Given the description of an element on the screen output the (x, y) to click on. 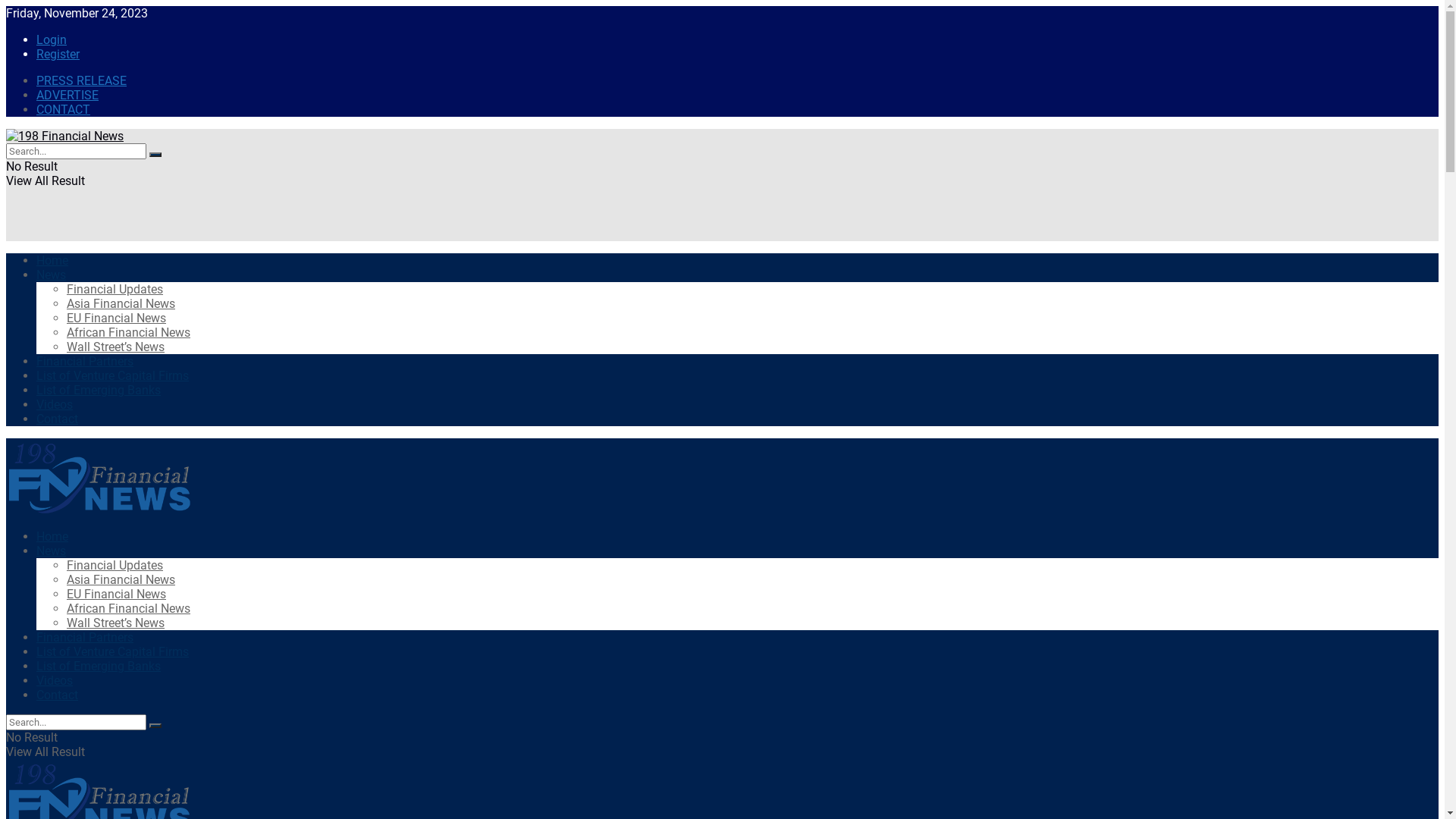
List of Venture Capital Firms Element type: text (112, 375)
Asia Financial News Element type: text (120, 303)
Register Element type: text (57, 54)
News Element type: text (50, 550)
ADVERTISE Element type: text (67, 94)
Home Element type: text (52, 536)
CONTACT Element type: text (63, 109)
Videos Element type: text (54, 680)
News Element type: text (50, 274)
Home Element type: text (52, 260)
EU Financial News Element type: text (116, 317)
African Financial News Element type: text (128, 332)
Contact Element type: text (57, 694)
List of Emerging Banks Element type: text (98, 389)
List of Venture Capital Firms Element type: text (112, 651)
EU Financial News Element type: text (116, 593)
Videos Element type: text (54, 404)
PRESS RELEASE Element type: text (81, 80)
Financial Updates Element type: text (114, 565)
Financial Updates Element type: text (114, 289)
Contact Element type: text (57, 418)
Asia Financial News Element type: text (120, 579)
List of Emerging Banks Element type: text (98, 665)
Login Element type: text (51, 39)
Financial Partners Element type: text (84, 361)
Financial Partners Element type: text (84, 637)
African Financial News Element type: text (128, 608)
